Given the description of an element on the screen output the (x, y) to click on. 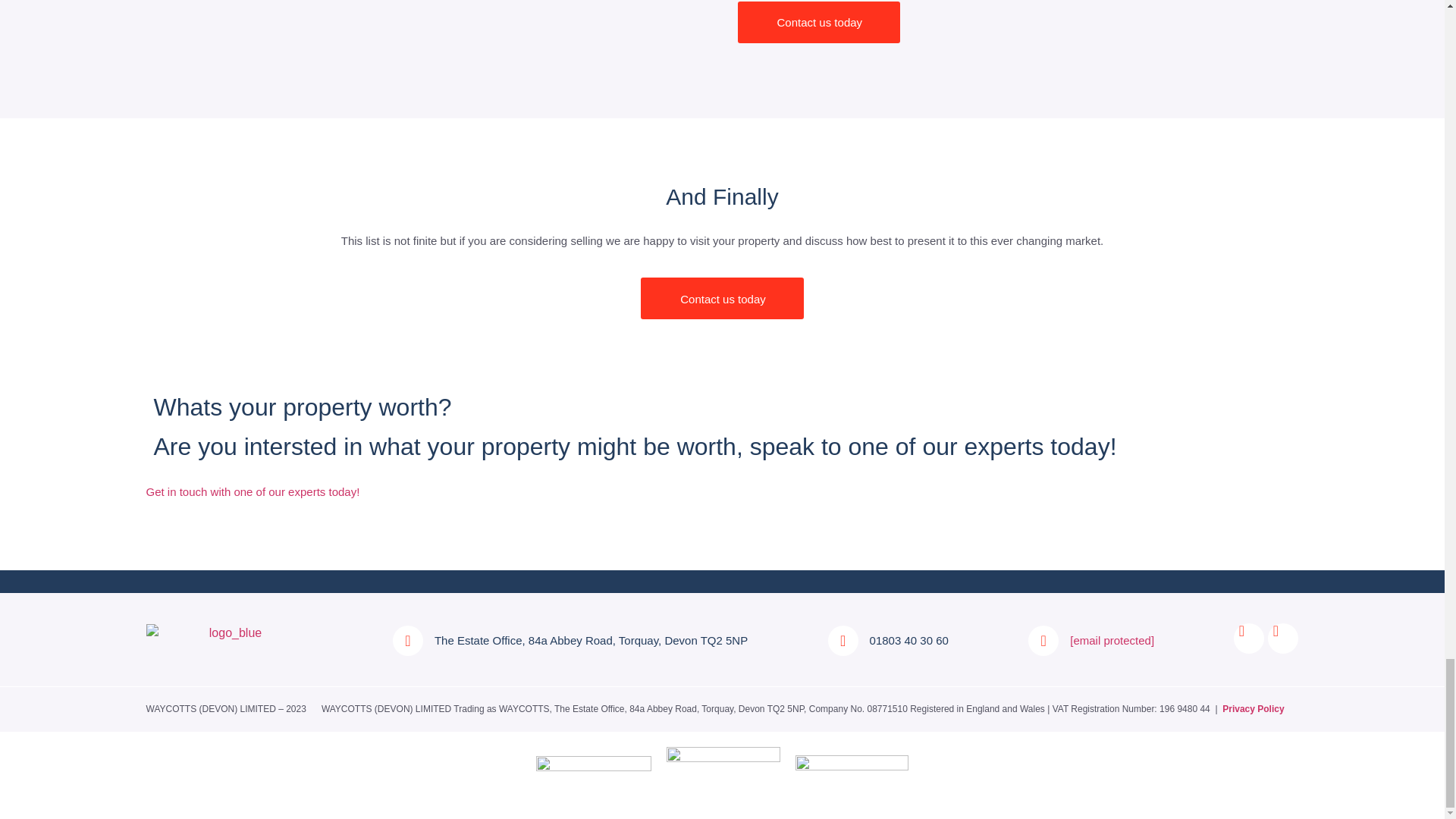
Contact us today (817, 22)
Contact us today (721, 298)
Get in touch with one of our experts today! (721, 491)
